Given the description of an element on the screen output the (x, y) to click on. 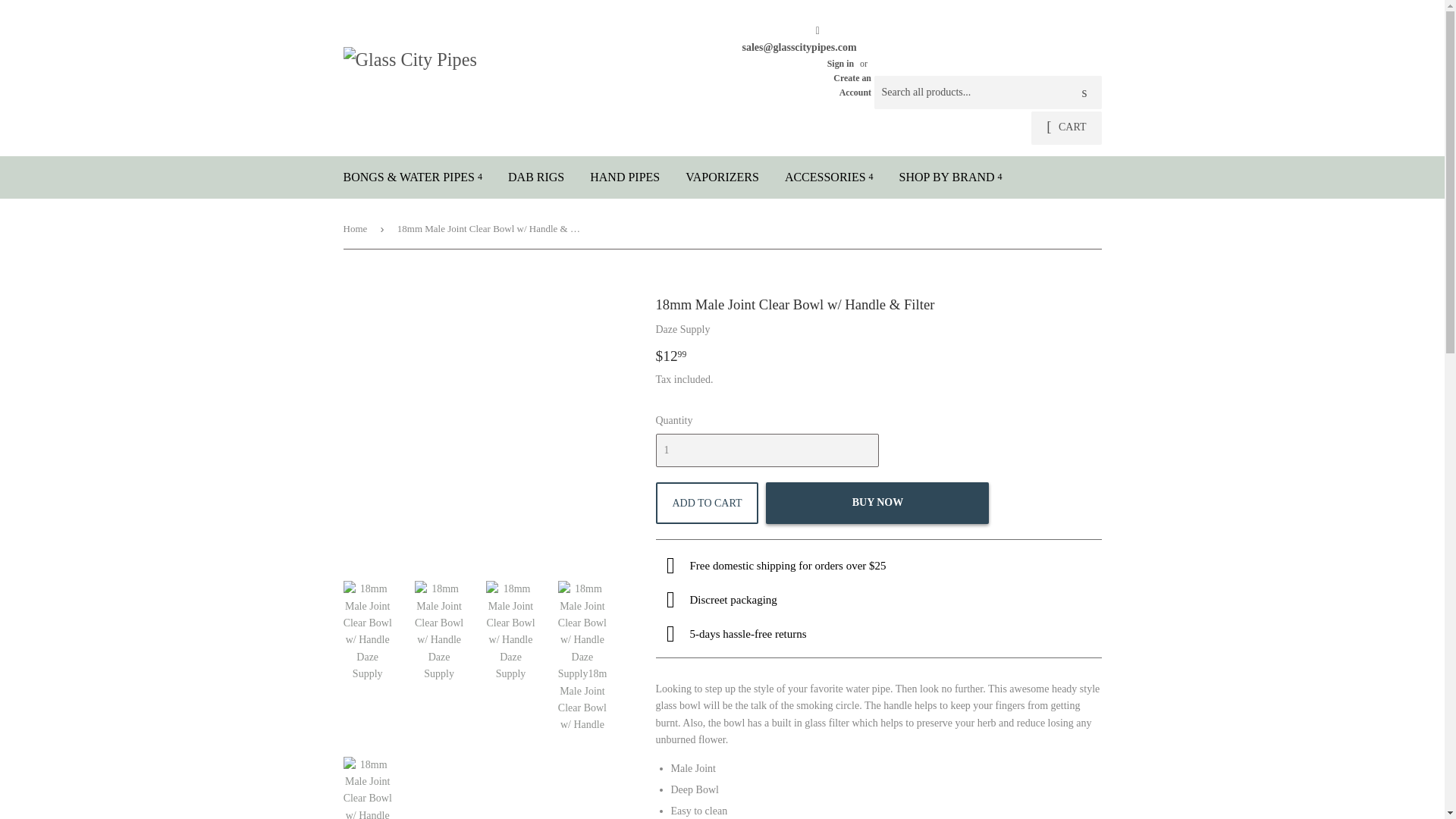
HAND PIPES (624, 177)
VAPORIZERS (722, 177)
DAB RIGS (535, 177)
Sign in (840, 63)
1 (766, 450)
Create an Account (851, 84)
CART (1065, 127)
SHOP BY BRAND (950, 177)
Search (1084, 92)
ACCESSORIES (829, 177)
